Given the description of an element on the screen output the (x, y) to click on. 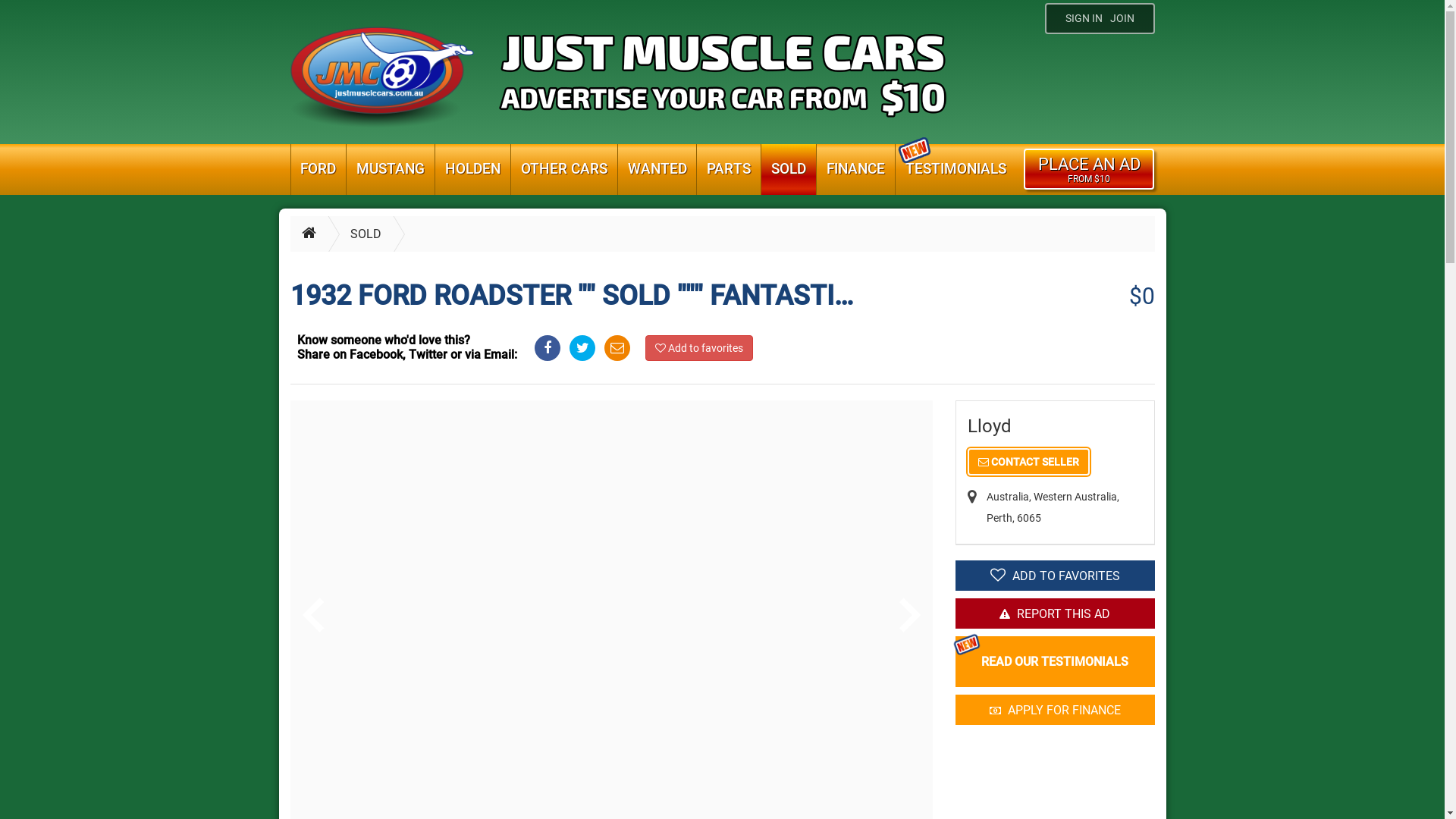
JOIN Element type: text (1126, 18)
HOLDEN Element type: text (472, 169)
SIGN IN Element type: text (1083, 18)
SOLD Element type: text (788, 169)
FINANCE Element type: text (855, 169)
Add to favorites Element type: text (699, 347)
MUSTANG Element type: text (390, 169)
READ OUR TESTIMONIALS Element type: text (1054, 661)
WANTED Element type: text (657, 169)
TESTIMONIALS Element type: text (955, 169)
ADD TO FAVORITES Element type: text (1054, 575)
APPLY FOR FINANCE Element type: text (1054, 709)
FORD Element type: text (318, 169)
CONTACT SELLER Element type: text (1028, 461)
REPORT THIS AD Element type: text (1054, 613)
OTHER CARS Element type: text (564, 169)
PARTS Element type: text (728, 169)
SOLD Element type: text (347, 233)
PLACE AN AD
FROM $10 Element type: text (1088, 168)
